Given the description of an element on the screen output the (x, y) to click on. 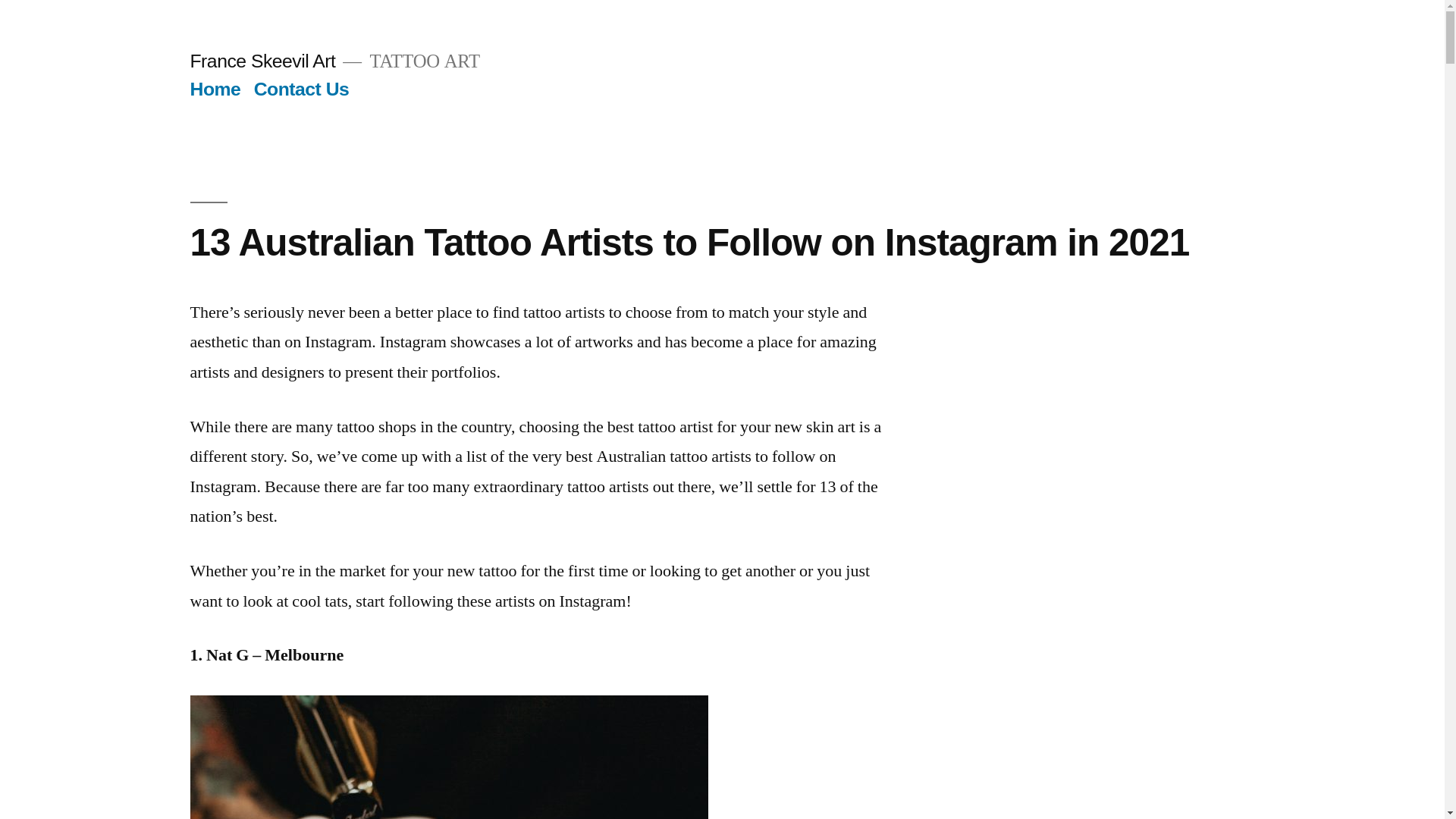
Contact Us Element type: text (301, 88)
13 Australian Tattoo Artists to Follow on Instagram in 2021 Element type: text (689, 242)
France Skeevil Art Element type: text (262, 60)
Home Element type: text (214, 88)
